Given the description of an element on the screen output the (x, y) to click on. 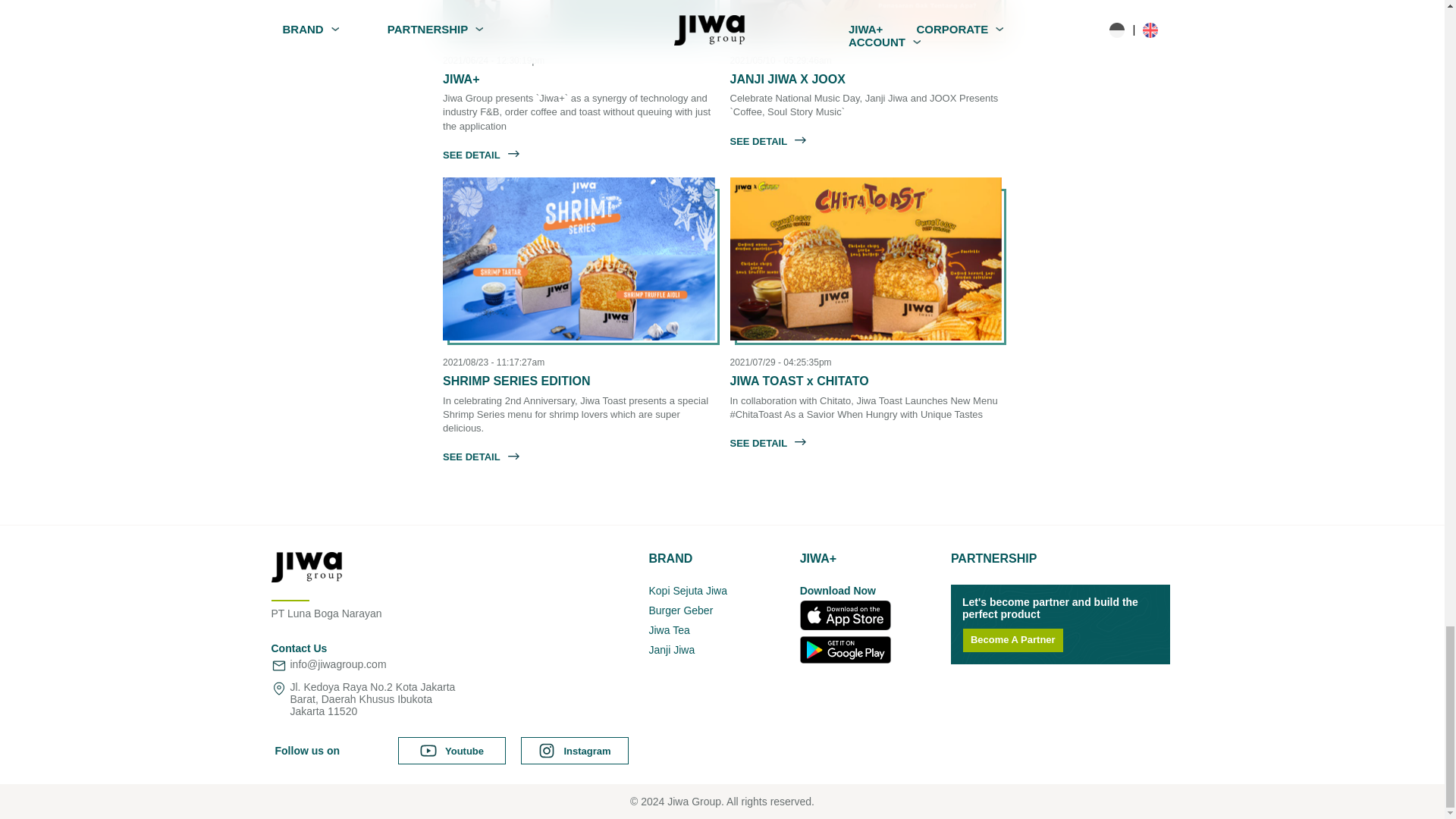
SEE DETAIL (480, 455)
Janji Jiwa (720, 649)
SEE DETAIL (767, 140)
Instagram (574, 750)
Jiwa Tea (720, 630)
Youtube (451, 750)
Burger Geber (720, 610)
Kopi Sejuta Jiwa (720, 590)
SEE DETAIL (480, 153)
SEE DETAIL (767, 441)
